Given the description of an element on the screen output the (x, y) to click on. 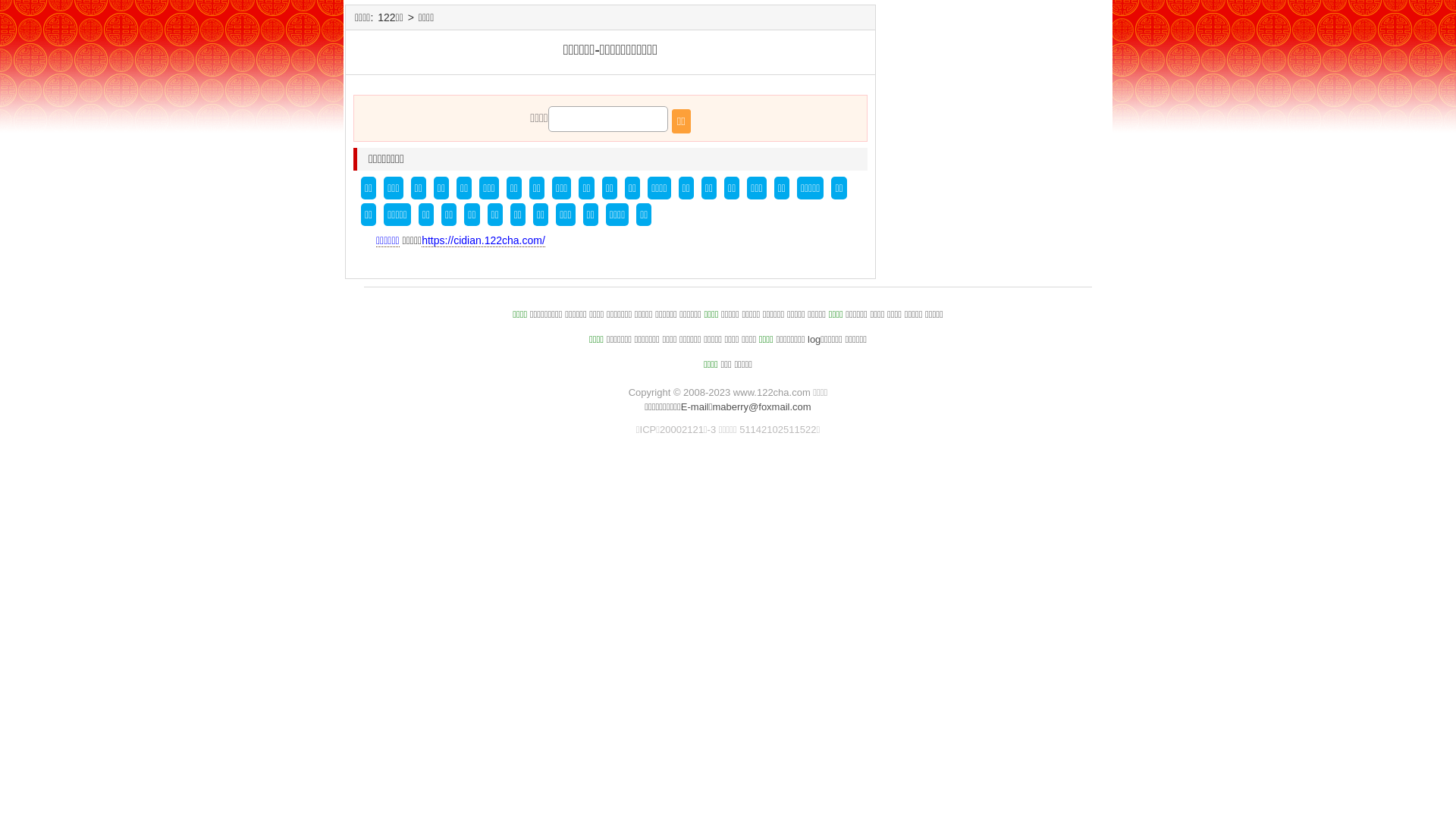
https://cidian.122cha.com/ Element type: text (483, 240)
